Given the description of an element on the screen output the (x, y) to click on. 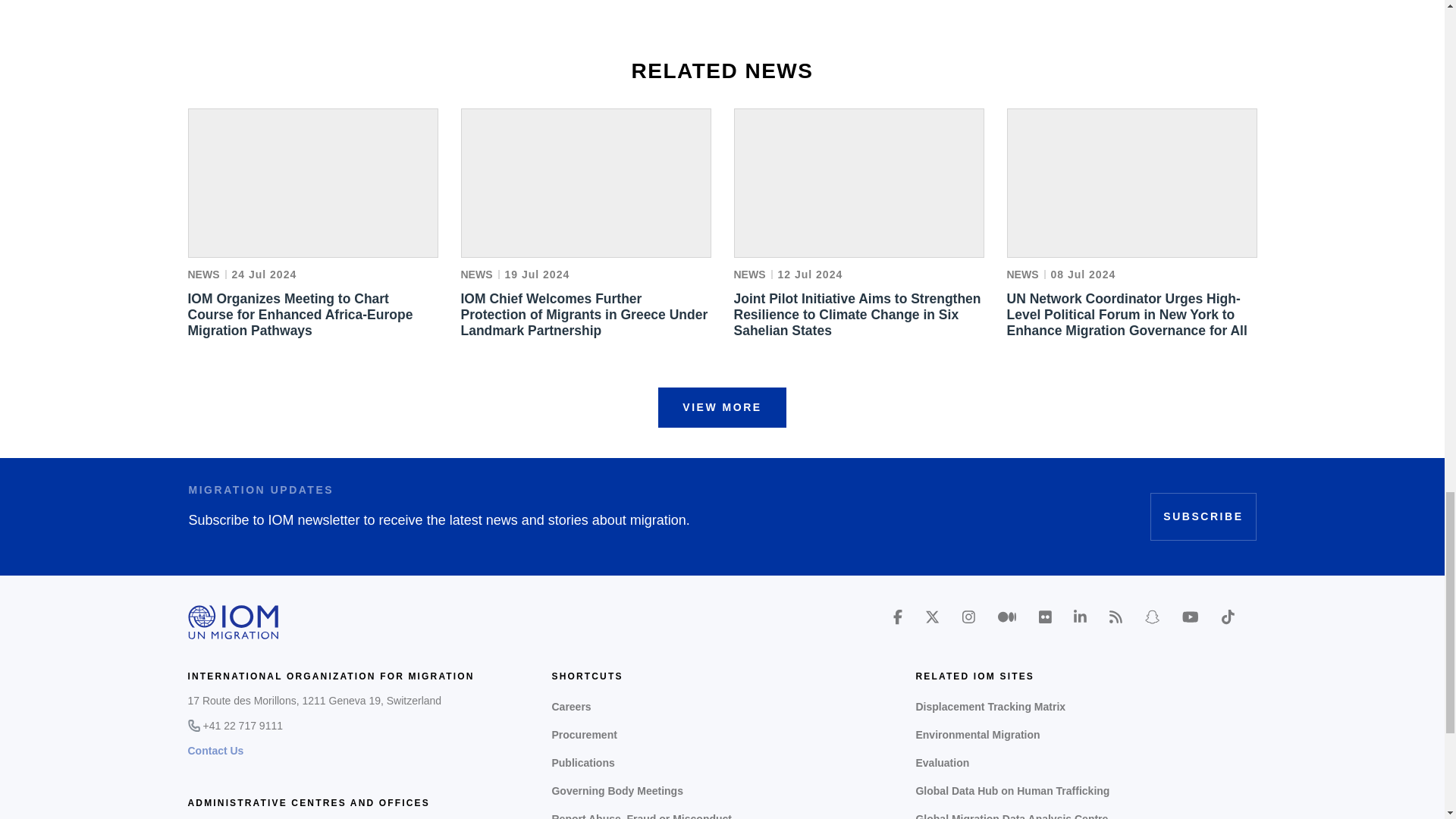
Governing Body Meetings (721, 791)
Home (233, 622)
